Given the description of an element on the screen output the (x, y) to click on. 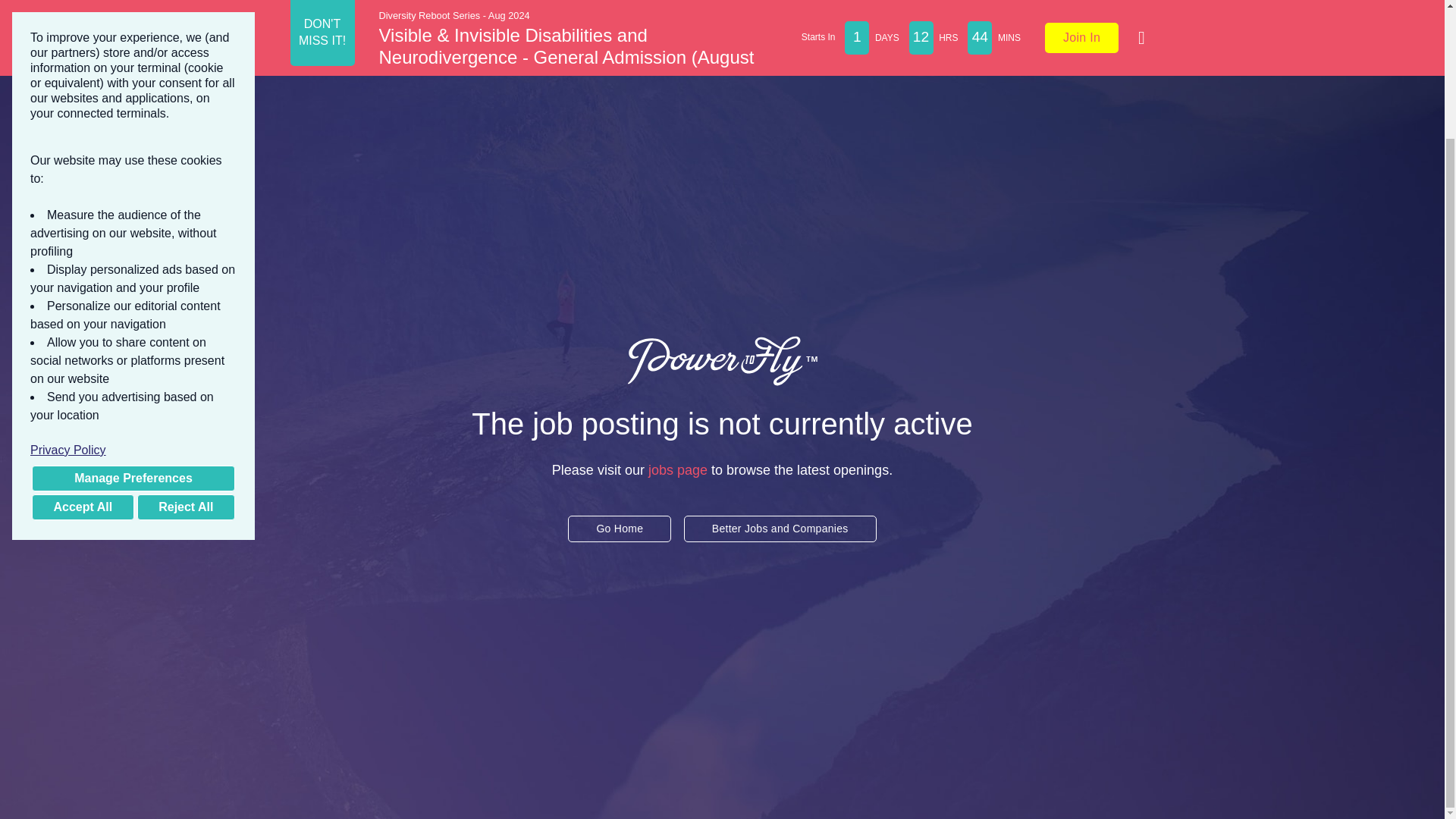
Go Home (619, 526)
PowerToFly (721, 360)
Privacy Policy (132, 294)
Accept All (82, 351)
Better Jobs and Companies (780, 528)
jobs page (677, 463)
Manage Preferences (133, 322)
Reject All (185, 351)
